Given the description of an element on the screen output the (x, y) to click on. 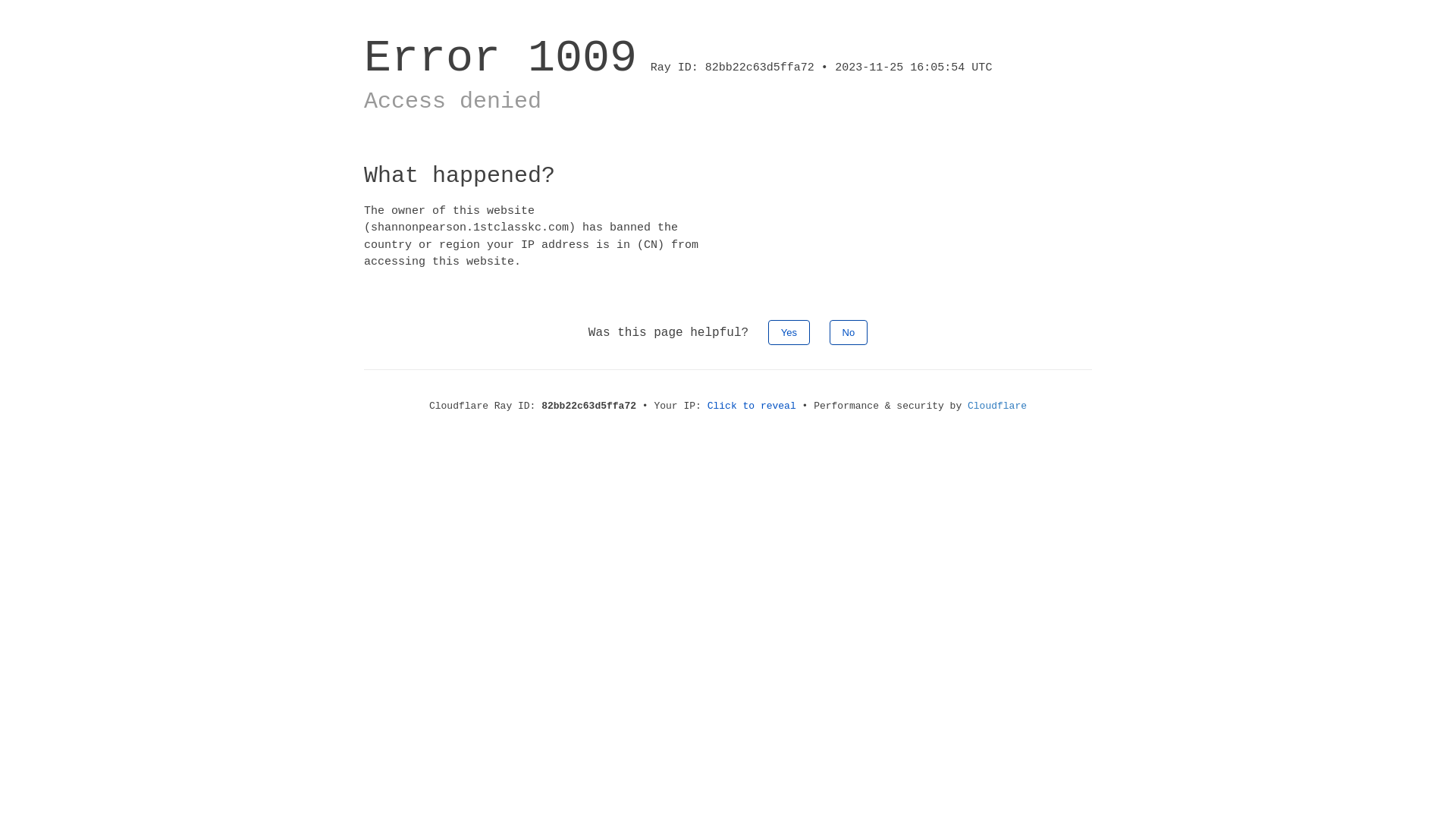
Cloudflare Element type: text (996, 405)
No Element type: text (848, 332)
Click to reveal Element type: text (751, 405)
Yes Element type: text (788, 332)
